Given the description of an element on the screen output the (x, y) to click on. 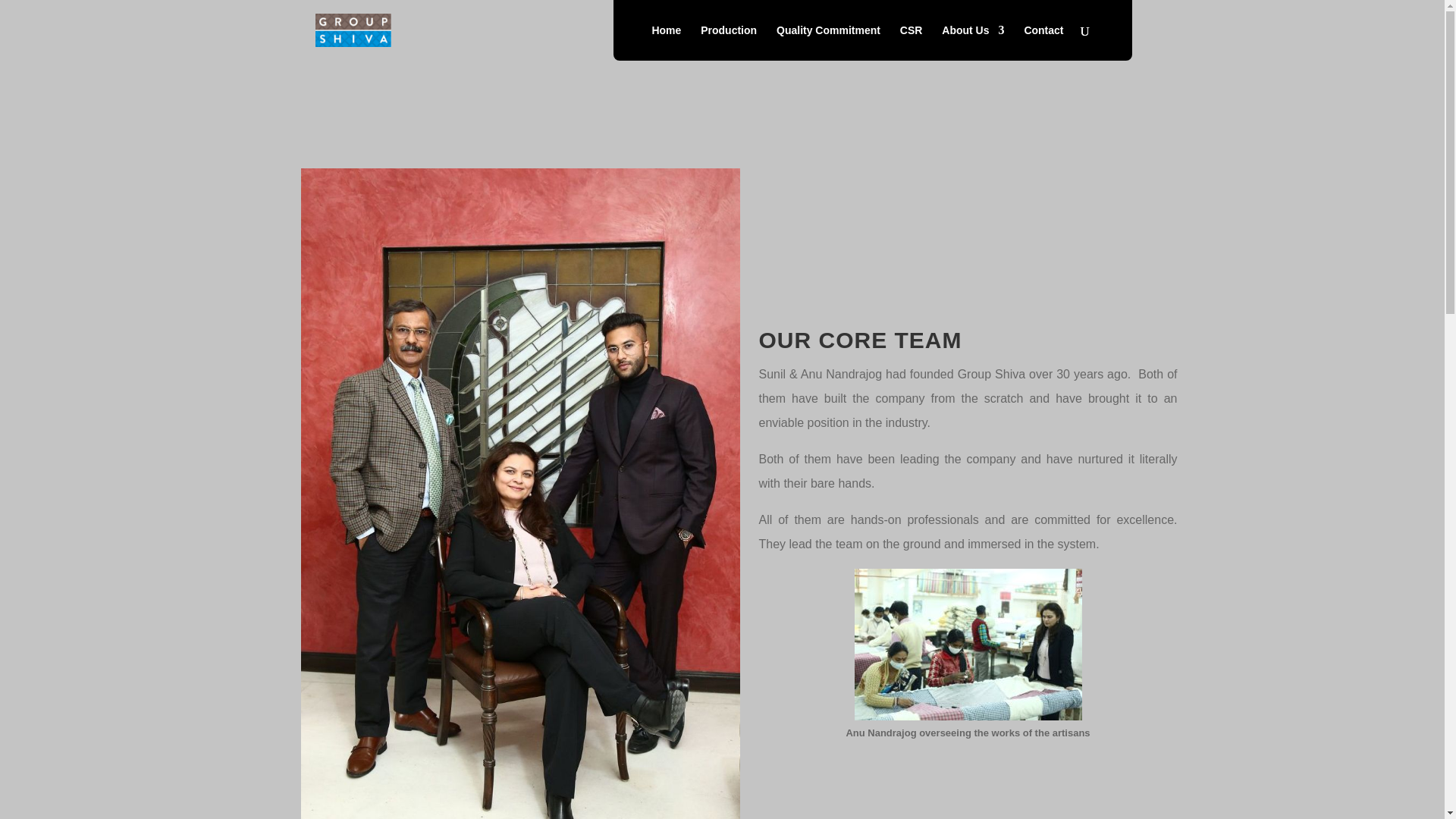
Production (728, 42)
Quality Commitment (828, 42)
About Us (973, 42)
Contact (1042, 42)
